Given the description of an element on the screen output the (x, y) to click on. 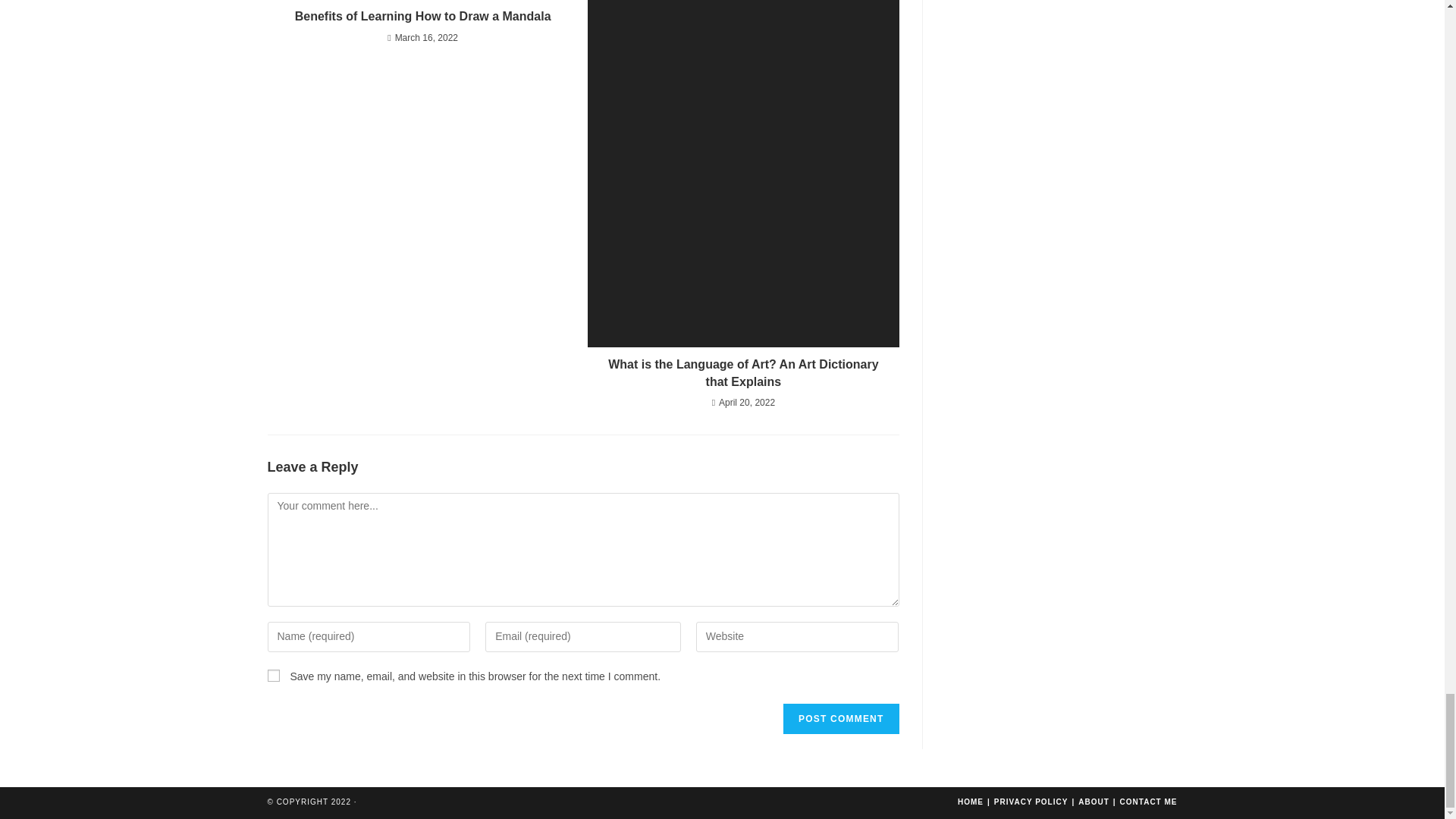
Benefits of Learning How to Draw a Mandala (422, 16)
Post Comment (840, 718)
HOME (971, 801)
PRIVACY POLICY (1031, 801)
CONTACT ME (1148, 801)
yes (272, 675)
ABOUT (1093, 801)
What is the Language of Art? An Art Dictionary that Explains (742, 373)
Post Comment (840, 718)
